Given the description of an element on the screen output the (x, y) to click on. 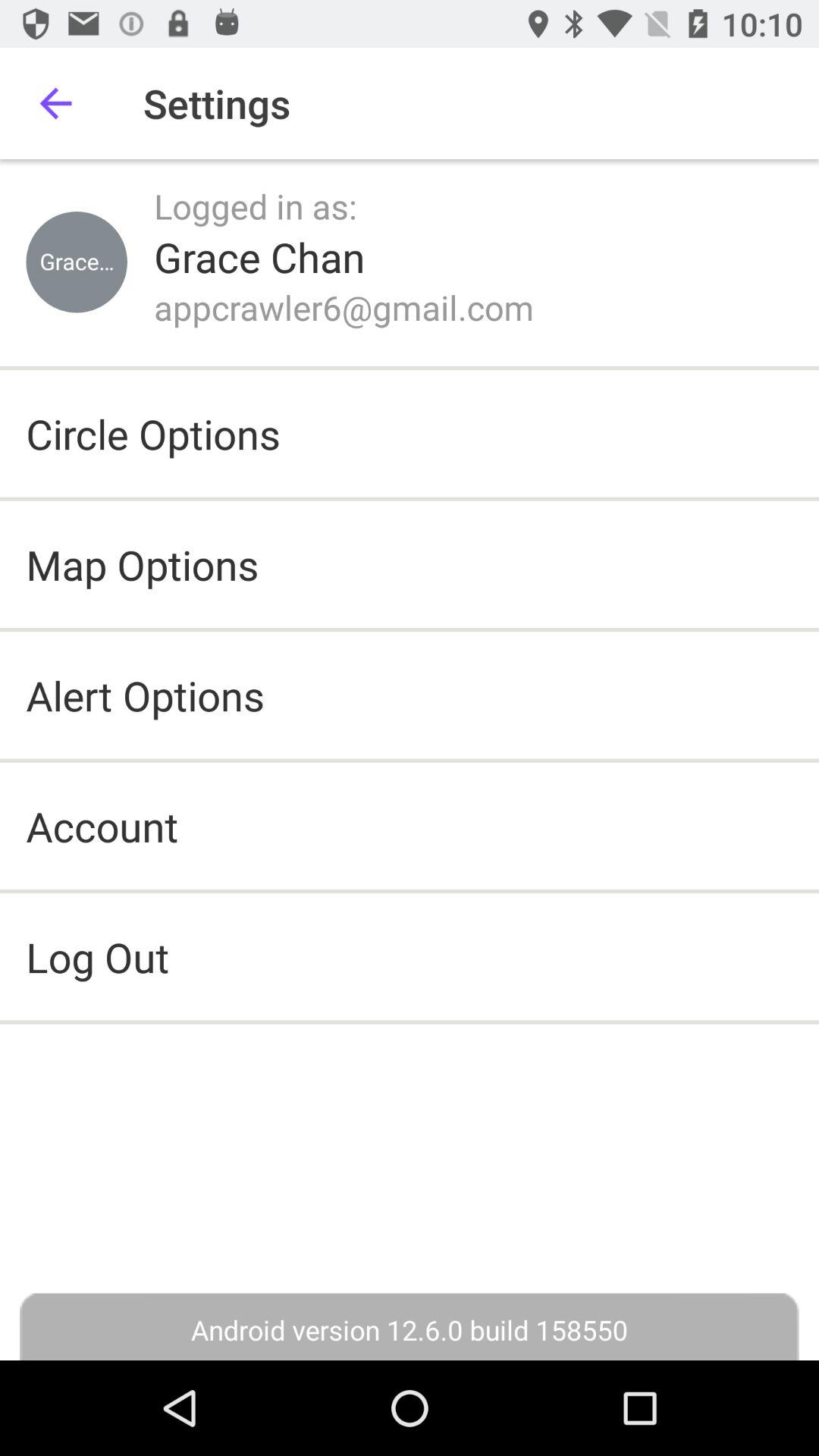
jump until the account item (102, 825)
